Given the description of an element on the screen output the (x, y) to click on. 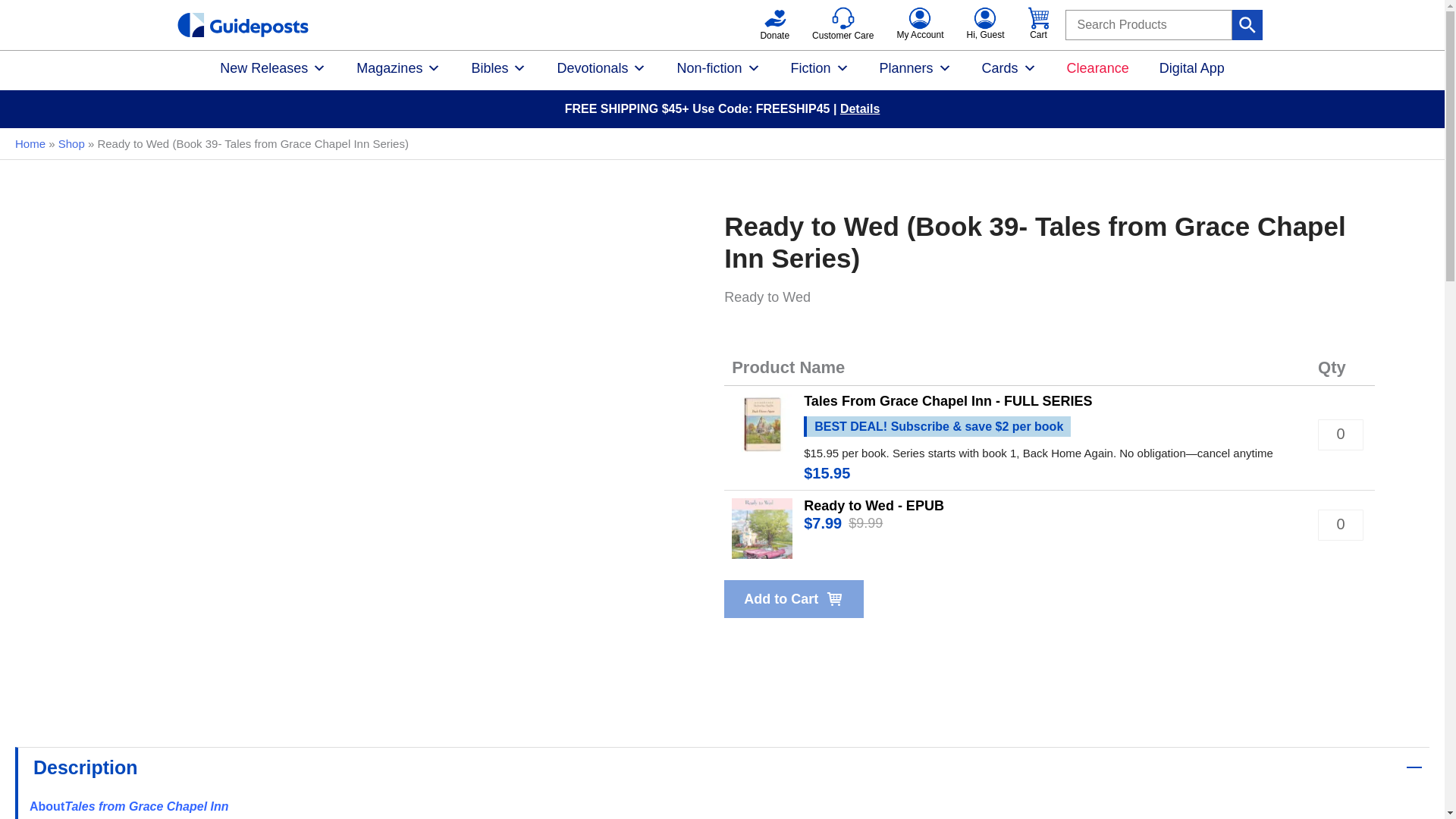
0 (1339, 434)
My Account (919, 21)
0 (1339, 524)
Cart (1037, 16)
Magazines (397, 70)
New Releases (272, 70)
Customer Care (842, 23)
Hi, Guest (985, 21)
